Given the description of an element on the screen output the (x, y) to click on. 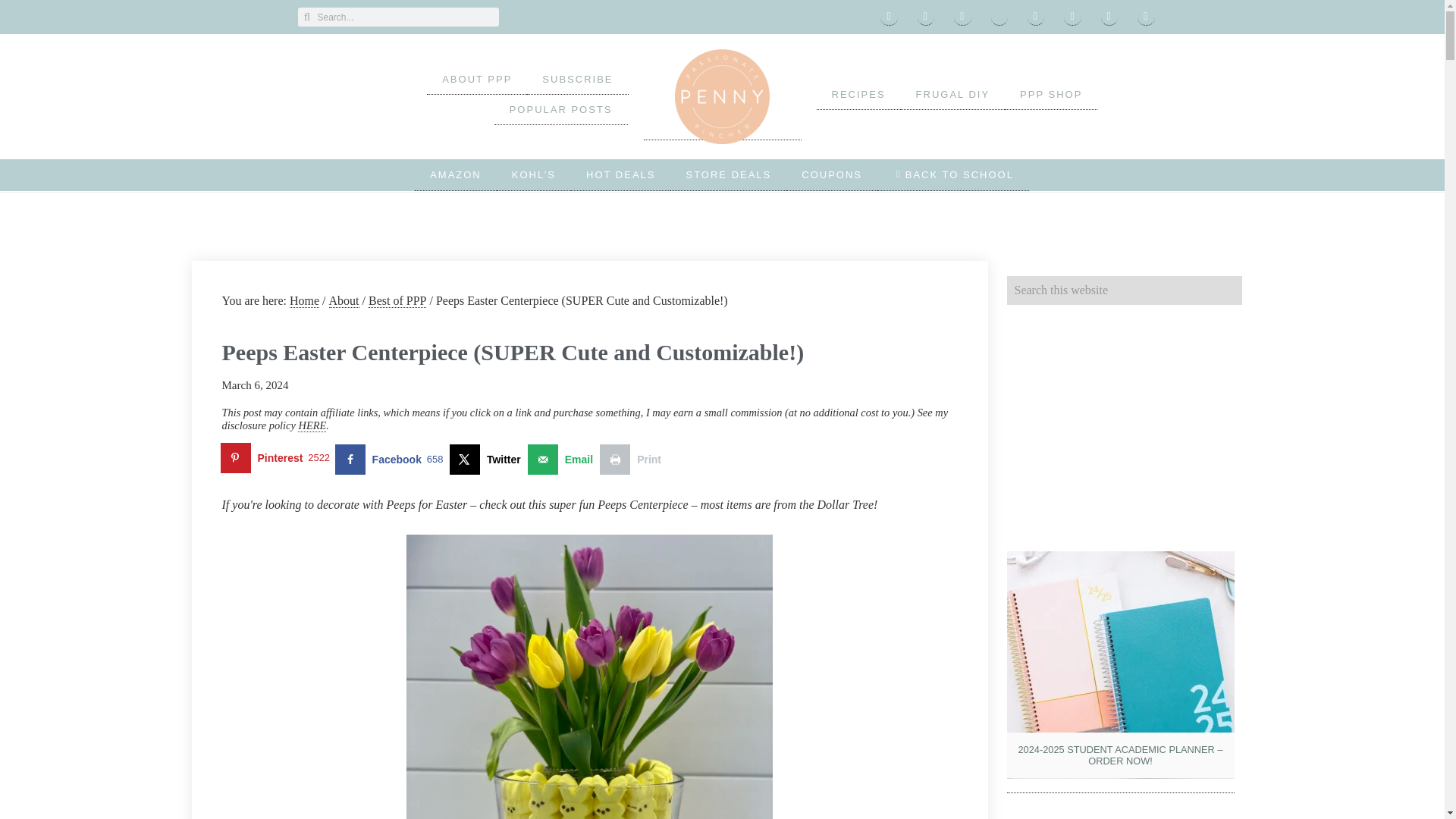
ABOUT PPP (476, 79)
FRUGAL DIY (953, 94)
Send over email (563, 459)
POPULAR POSTS (561, 110)
Share on X (488, 459)
Share on Facebook (391, 459)
Save to Pinterest (277, 459)
Print this webpage (633, 459)
AMAZON (455, 174)
